Given the description of an element on the screen output the (x, y) to click on. 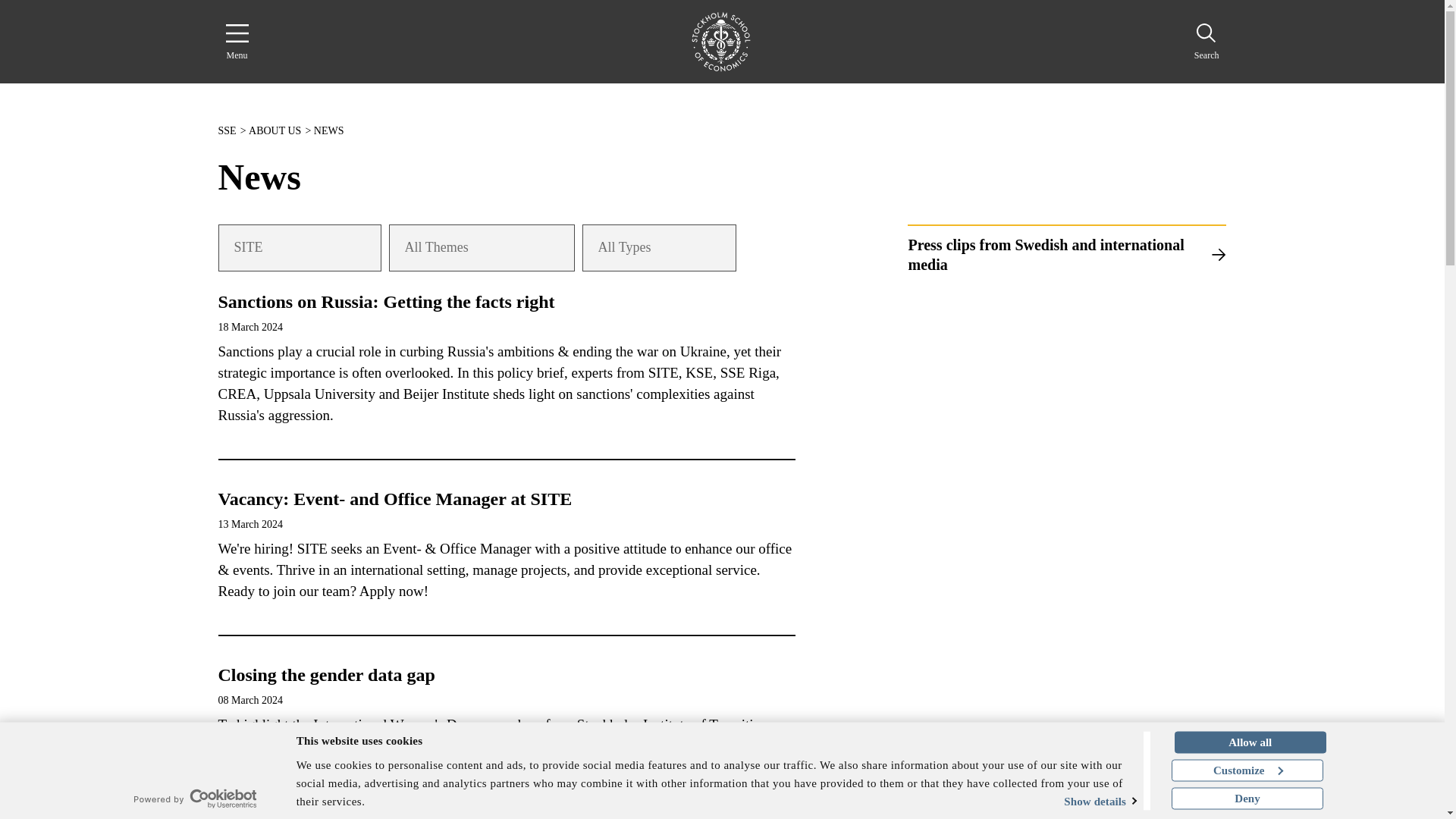
Show details (1078, 800)
